Given the description of an element on the screen output the (x, y) to click on. 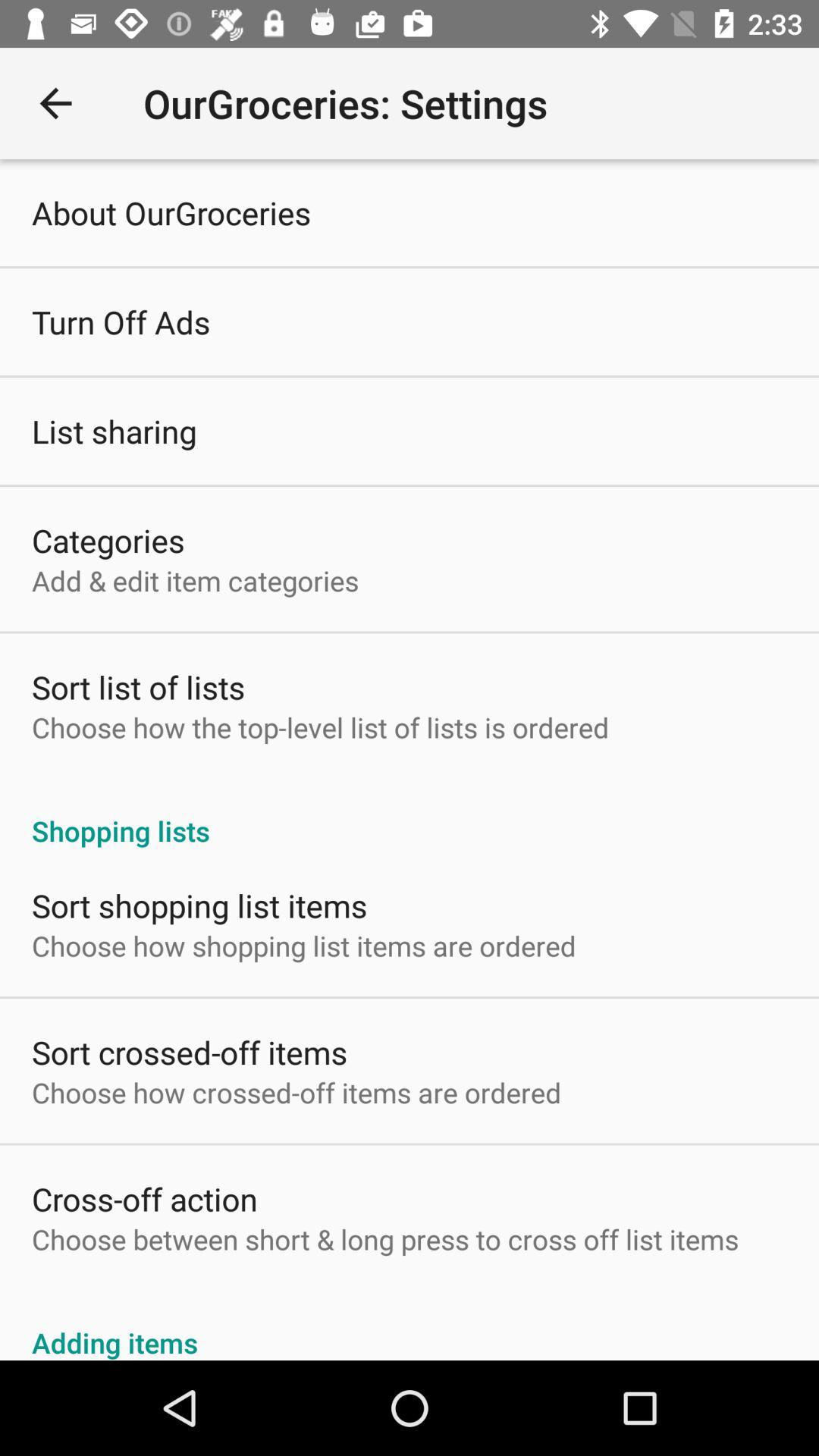
swipe until the list sharing icon (113, 430)
